Given the description of an element on the screen output the (x, y) to click on. 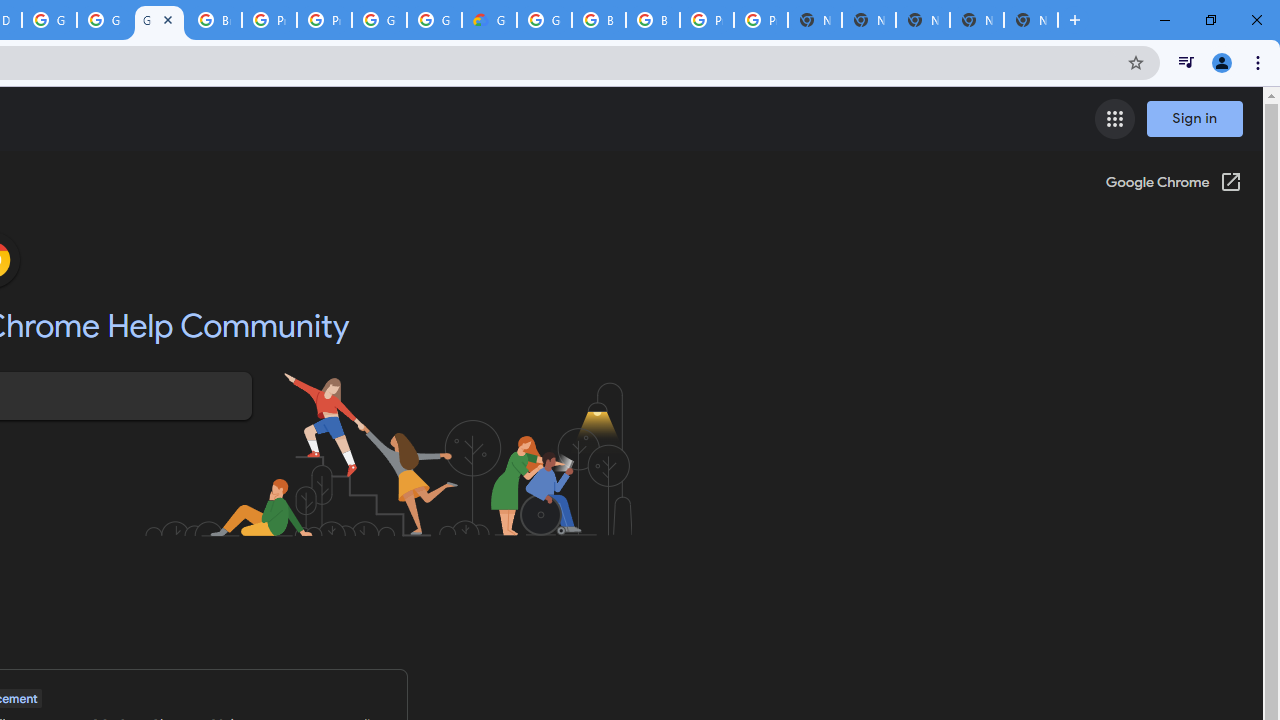
Google Chrome (Open in a new window) (1173, 183)
Browse Chrome as a guest - Computer - Google Chrome Help (652, 20)
Browse Chrome as a guest - Computer - Google Chrome Help (213, 20)
Google Cloud Platform (379, 20)
Google Cloud Platform (544, 20)
Google Cloud Estimate Summary (489, 20)
Google Chrome Community (158, 20)
